Given the description of an element on the screen output the (x, y) to click on. 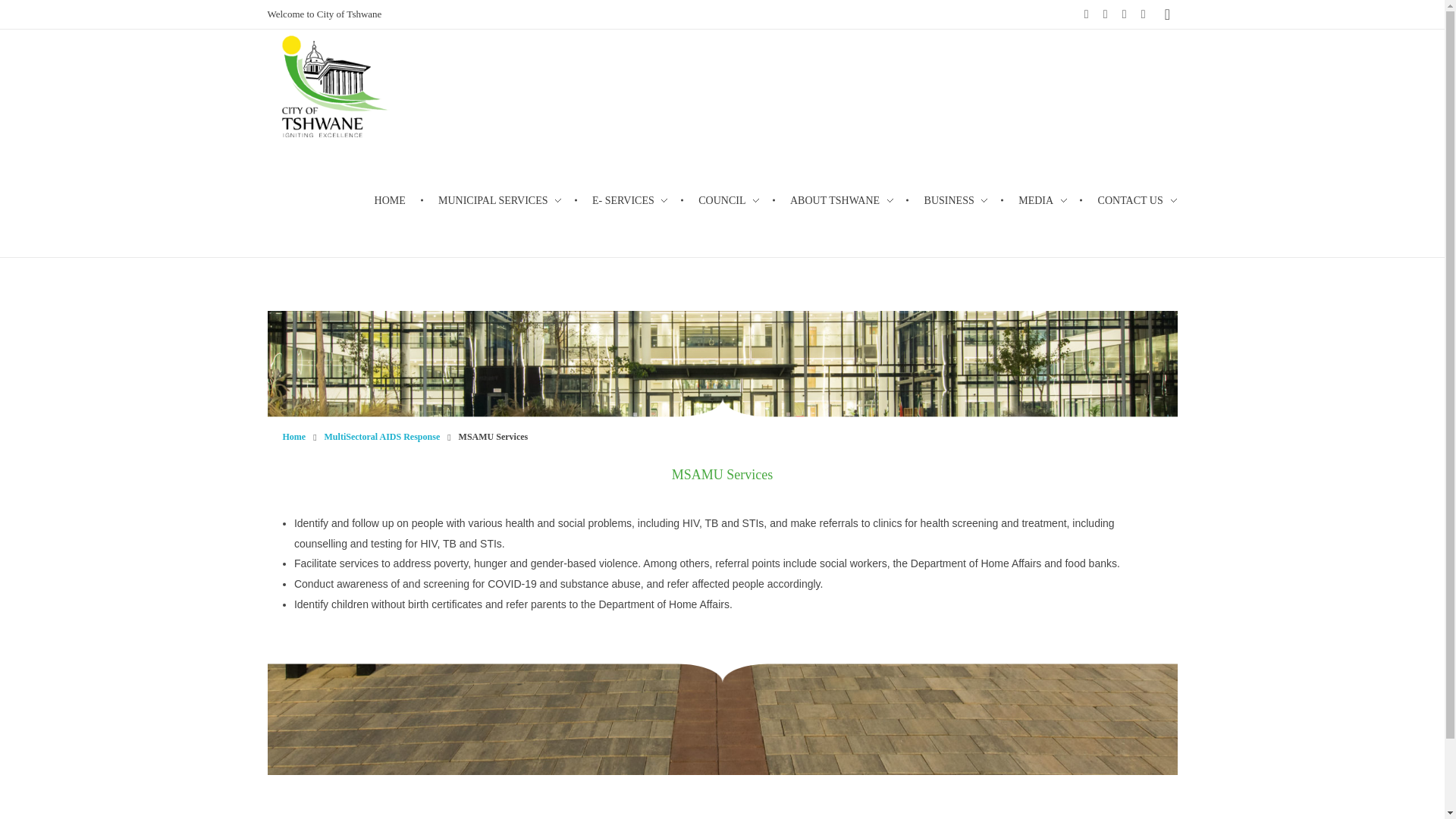
Home (293, 436)
MUNICIPAL SERVICES (501, 200)
MultiSectoral AIDS Response (382, 436)
